Given the description of an element on the screen output the (x, y) to click on. 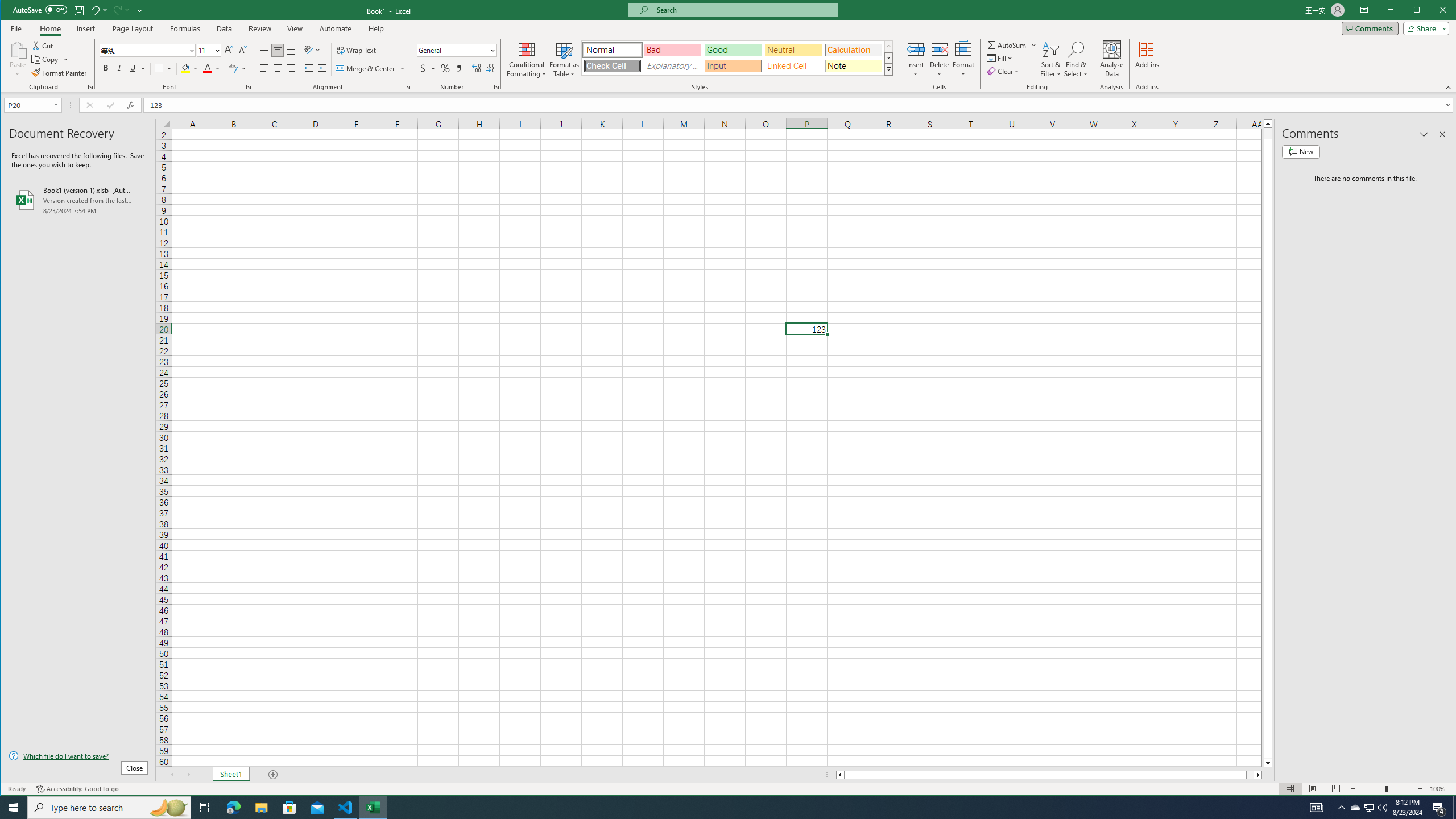
Wrap Text (356, 49)
User Promoted Notification Area (1368, 807)
Bad (672, 49)
AutomationID: CellStylesGallery (736, 57)
Number Format (453, 50)
Fill Color RGB(255, 255, 0) (185, 68)
Top Align (263, 49)
Microsoft Store (1355, 807)
